Given the description of an element on the screen output the (x, y) to click on. 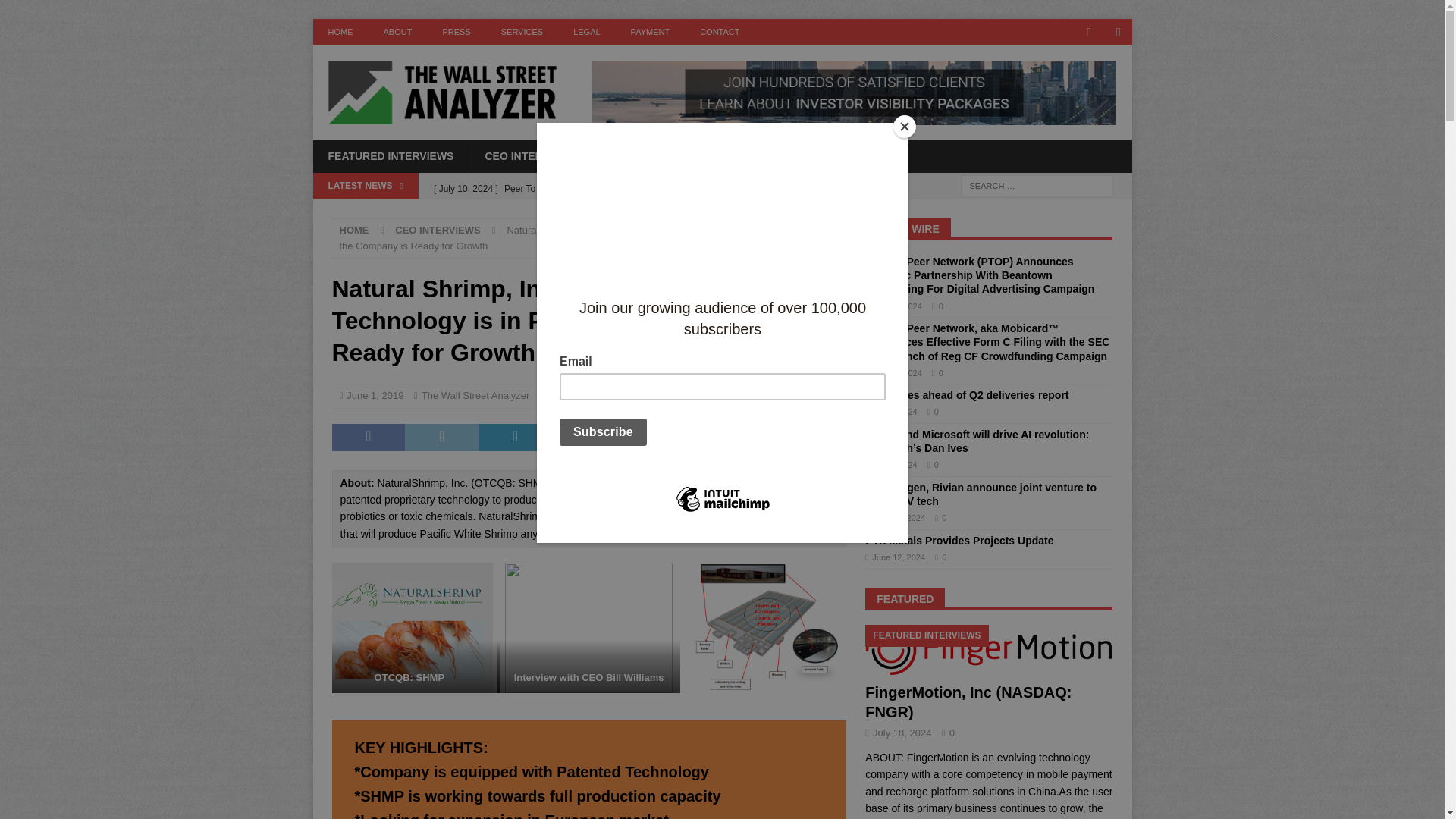
NEWS FEED (638, 155)
SERVICES (521, 31)
ABOUT (398, 31)
SECTORS (822, 155)
LEGAL (585, 31)
PAYMENT (650, 31)
HOME (340, 31)
PRESS (455, 31)
SPOTLIGHT (731, 155)
CEO INTERVIEWS (529, 155)
FEATURED INTERVIEWS (390, 155)
CONTACT (719, 31)
